Given the description of an element on the screen output the (x, y) to click on. 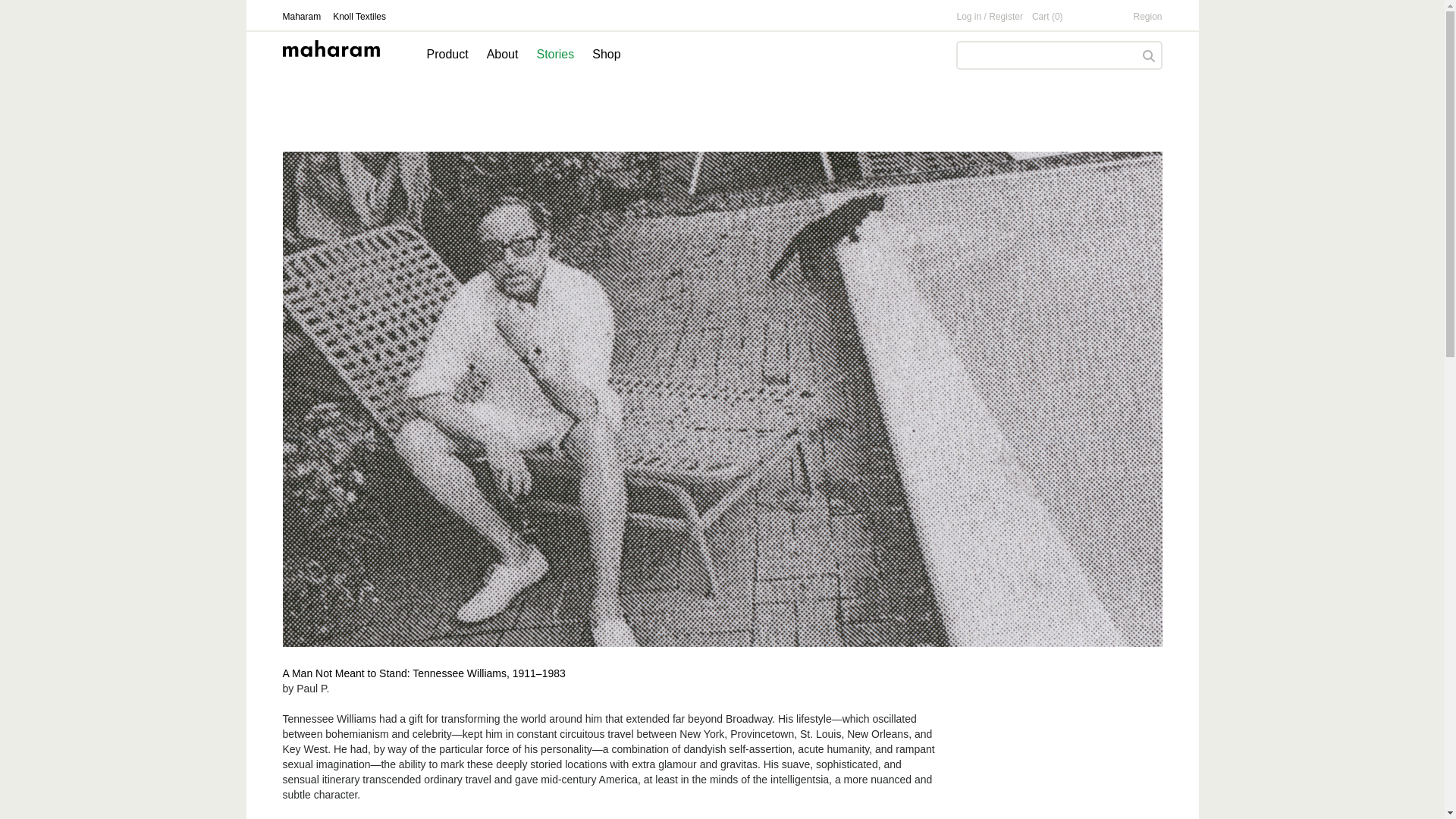
Knoll Textiles (359, 17)
Shop (606, 54)
About (502, 54)
Stories (554, 54)
Maharam (301, 17)
Product (446, 54)
